Given the description of an element on the screen output the (x, y) to click on. 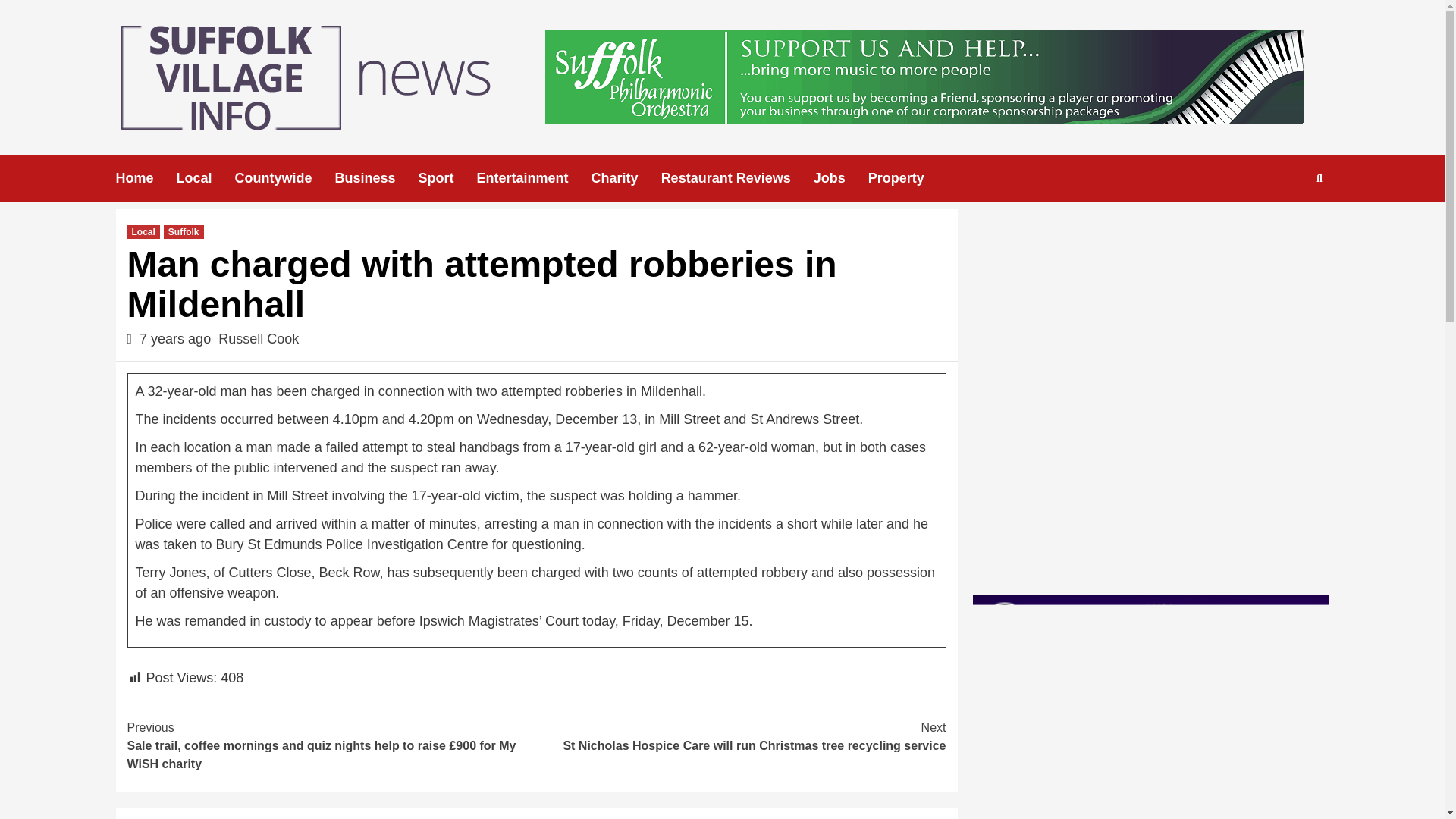
Charity (626, 178)
Local (205, 178)
Sport (448, 178)
Search (1283, 226)
Countywide (284, 178)
Entertainment (534, 178)
Restaurant Reviews (737, 178)
Suffolk (183, 232)
Business (376, 178)
Home (145, 178)
Local (144, 232)
Jobs (840, 178)
Russell Cook (258, 338)
Property (907, 178)
